Given the description of an element on the screen output the (x, y) to click on. 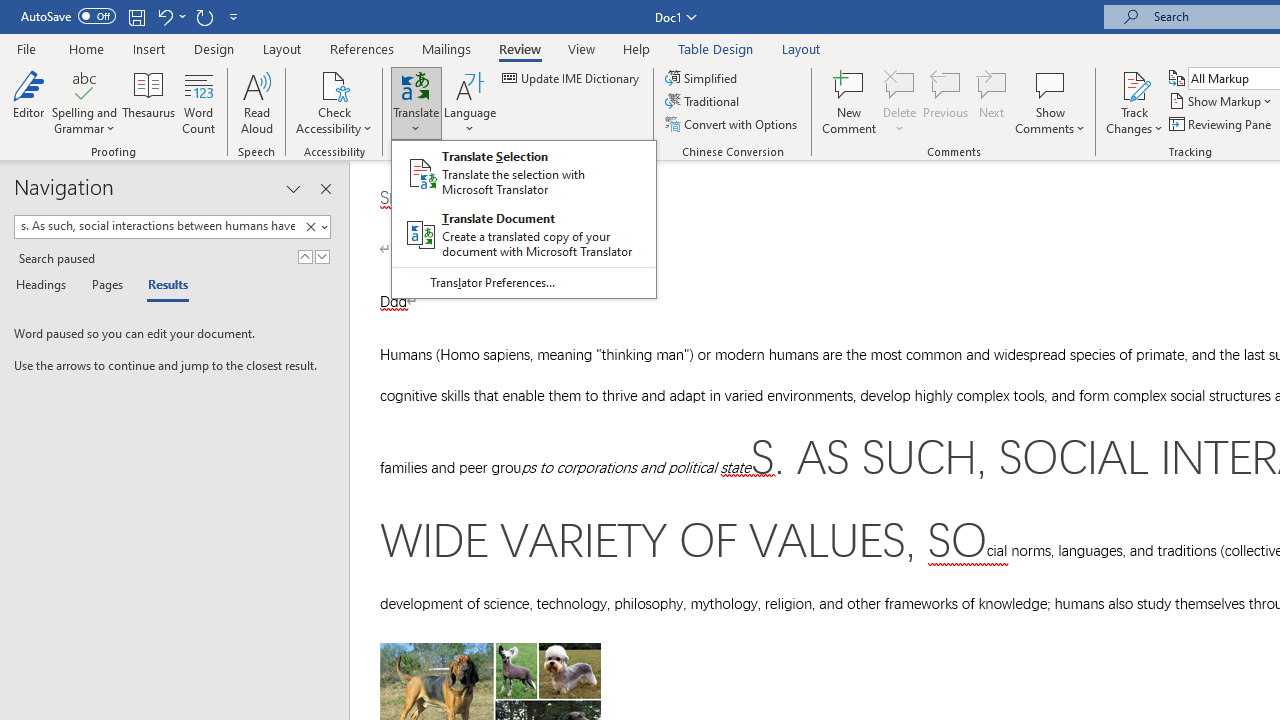
Traditional (703, 101)
Next Result (322, 256)
Track Changes (1134, 84)
Delete (900, 102)
New Comment (849, 102)
Read Aloud (256, 102)
Simplified (702, 78)
Delete (900, 84)
Reviewing Pane (1221, 124)
Undo Style (164, 15)
